Given the description of an element on the screen output the (x, y) to click on. 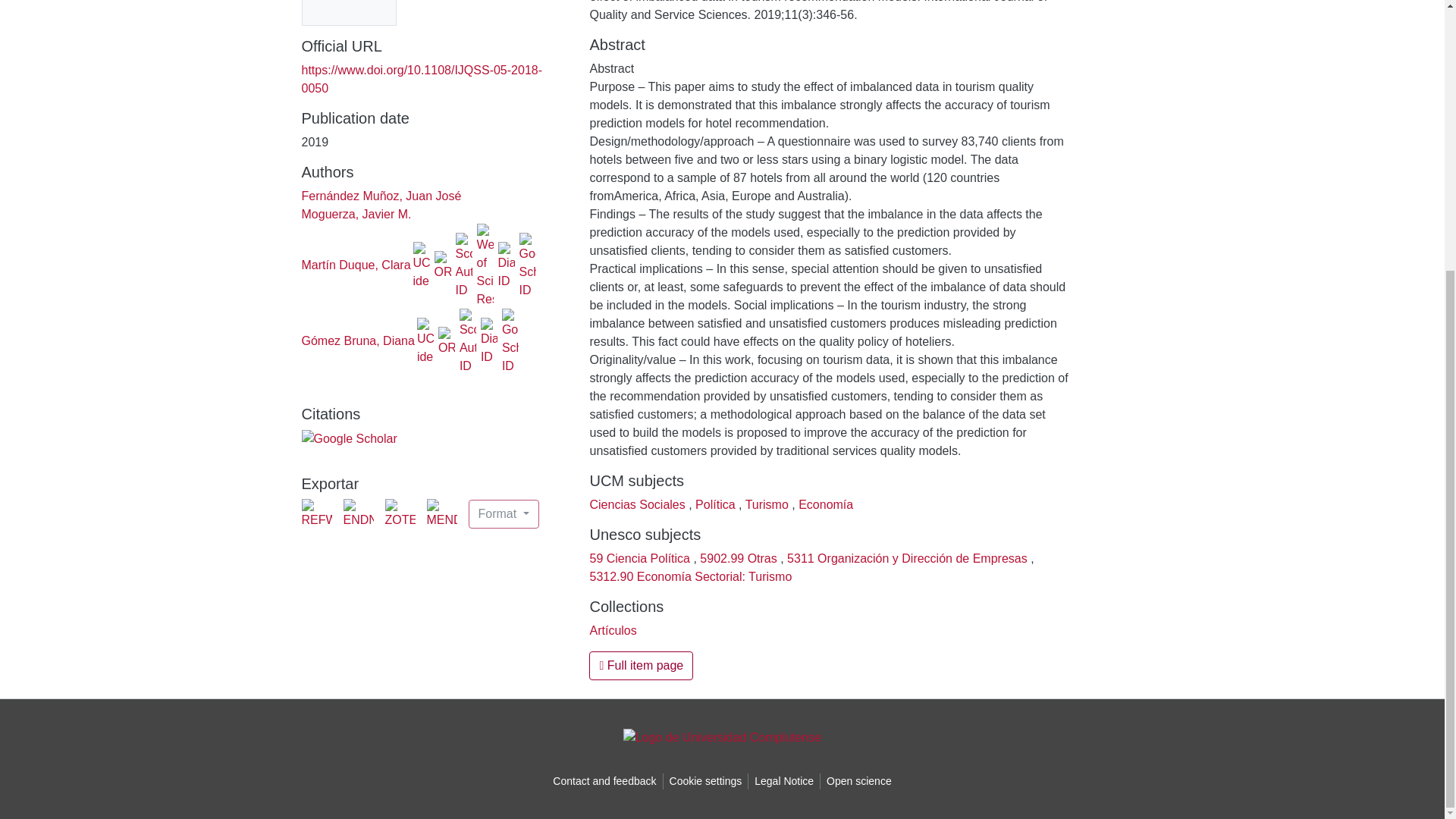
Moguerza, Javier M. (356, 214)
Citations in Google Scholar (349, 438)
